Given the description of an element on the screen output the (x, y) to click on. 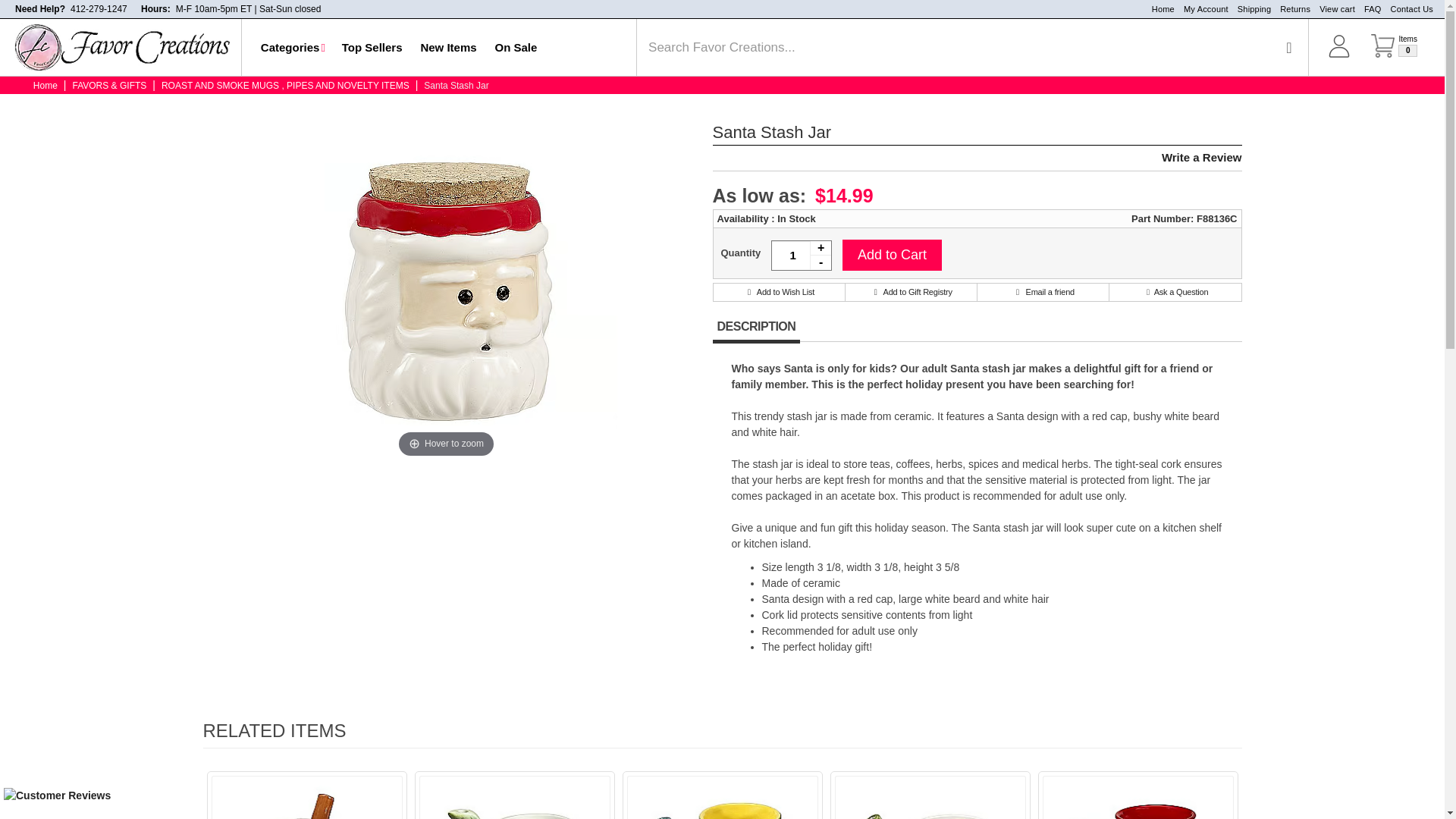
Top Sellers (372, 47)
Store Phone (98, 9)
Home (1162, 9)
Returns (1290, 9)
1 (801, 255)
Shopping Cart (1393, 55)
Contact Us (1393, 55)
FAQ (1406, 9)
Shipping (1368, 9)
412-279-1247 (1249, 9)
Search Our Store (98, 9)
View cart (1288, 47)
Categories (1332, 9)
My Account (292, 47)
